Given the description of an element on the screen output the (x, y) to click on. 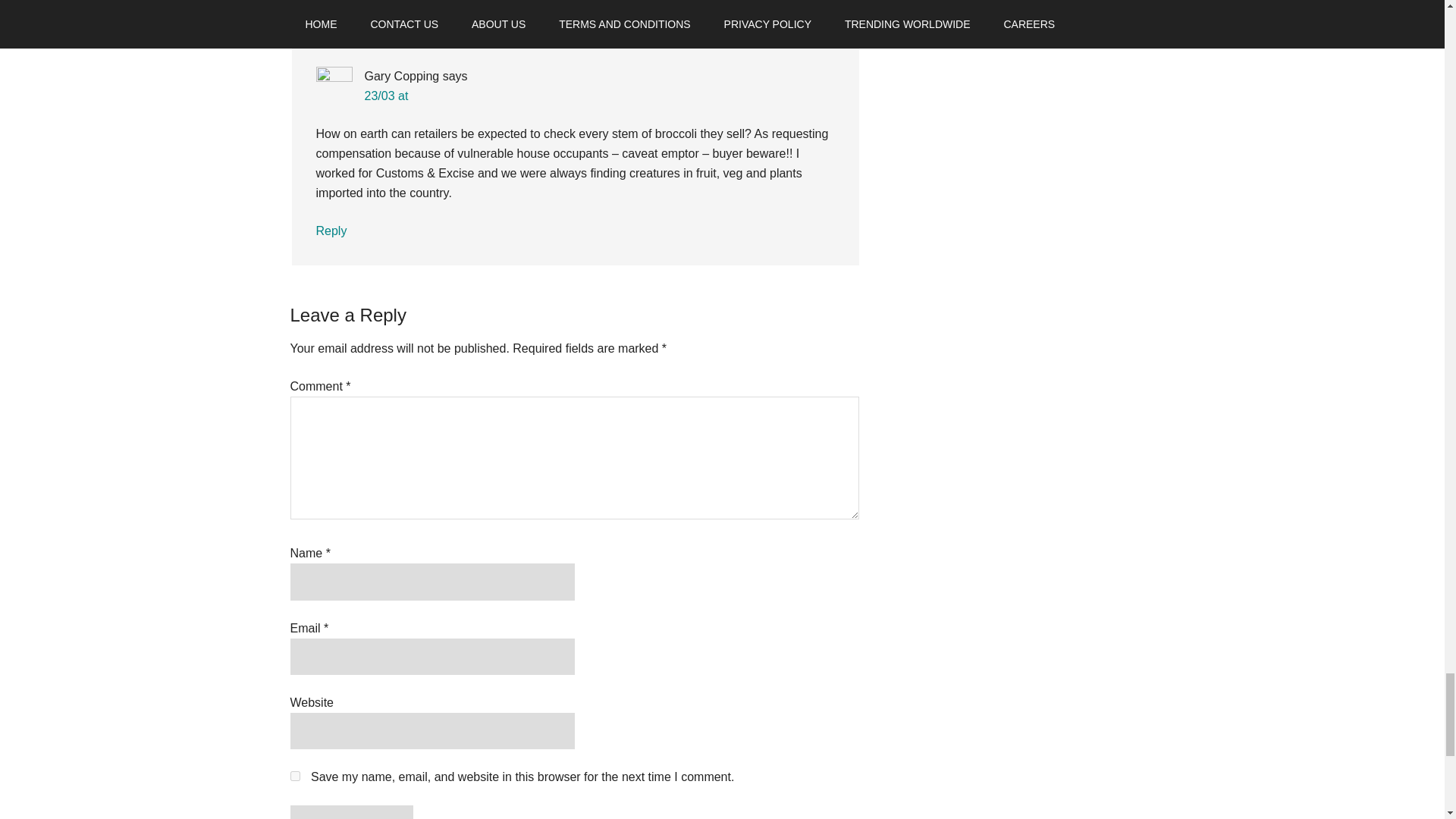
Reply (330, 230)
yes (294, 776)
Post Comment (350, 812)
Post Comment (350, 812)
